Given the description of an element on the screen output the (x, y) to click on. 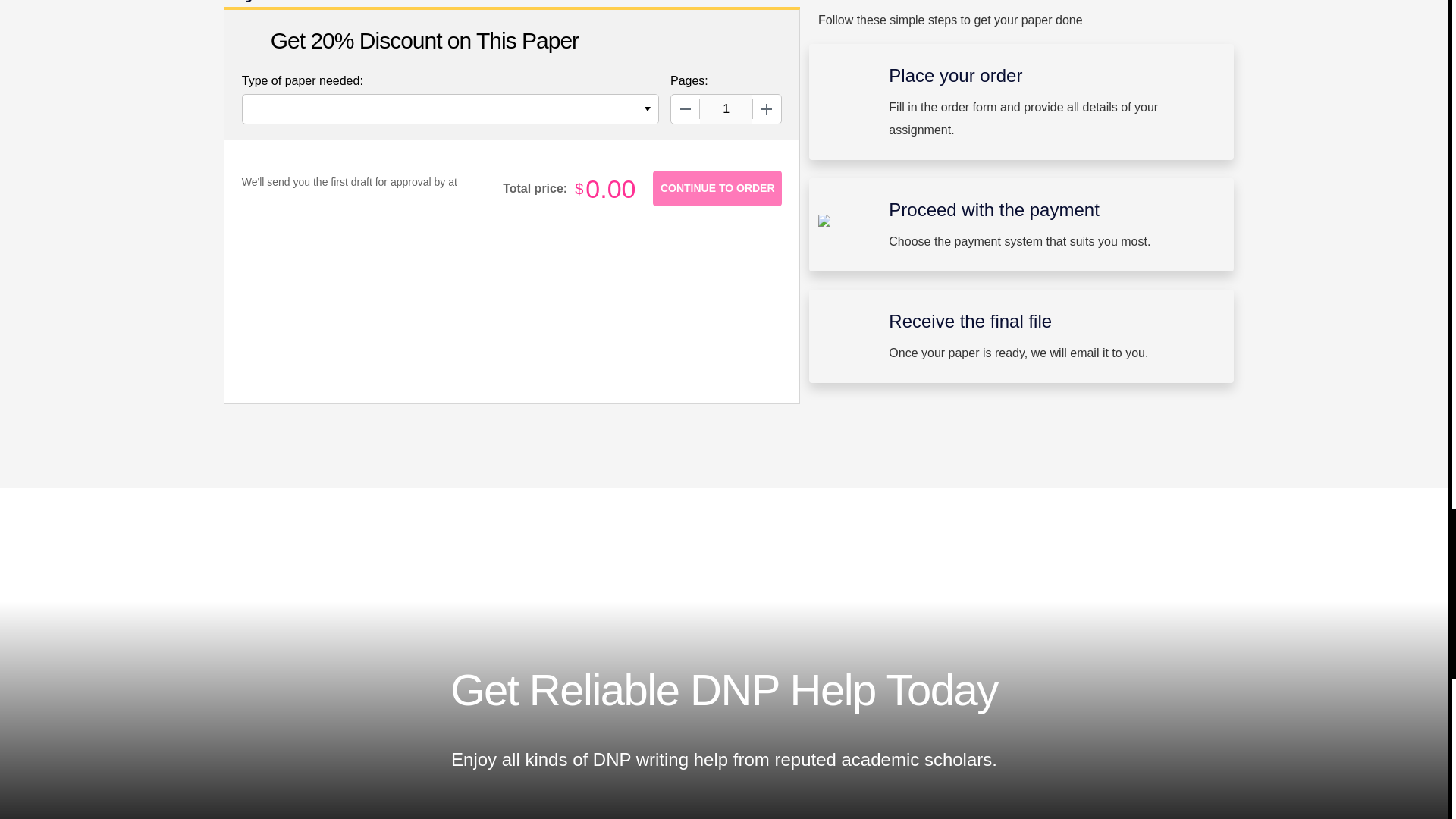
Continue to order (716, 188)
1 (726, 109)
Continue to Order (716, 188)
Increase (766, 109)
Decrease (685, 109)
